Given the description of an element on the screen output the (x, y) to click on. 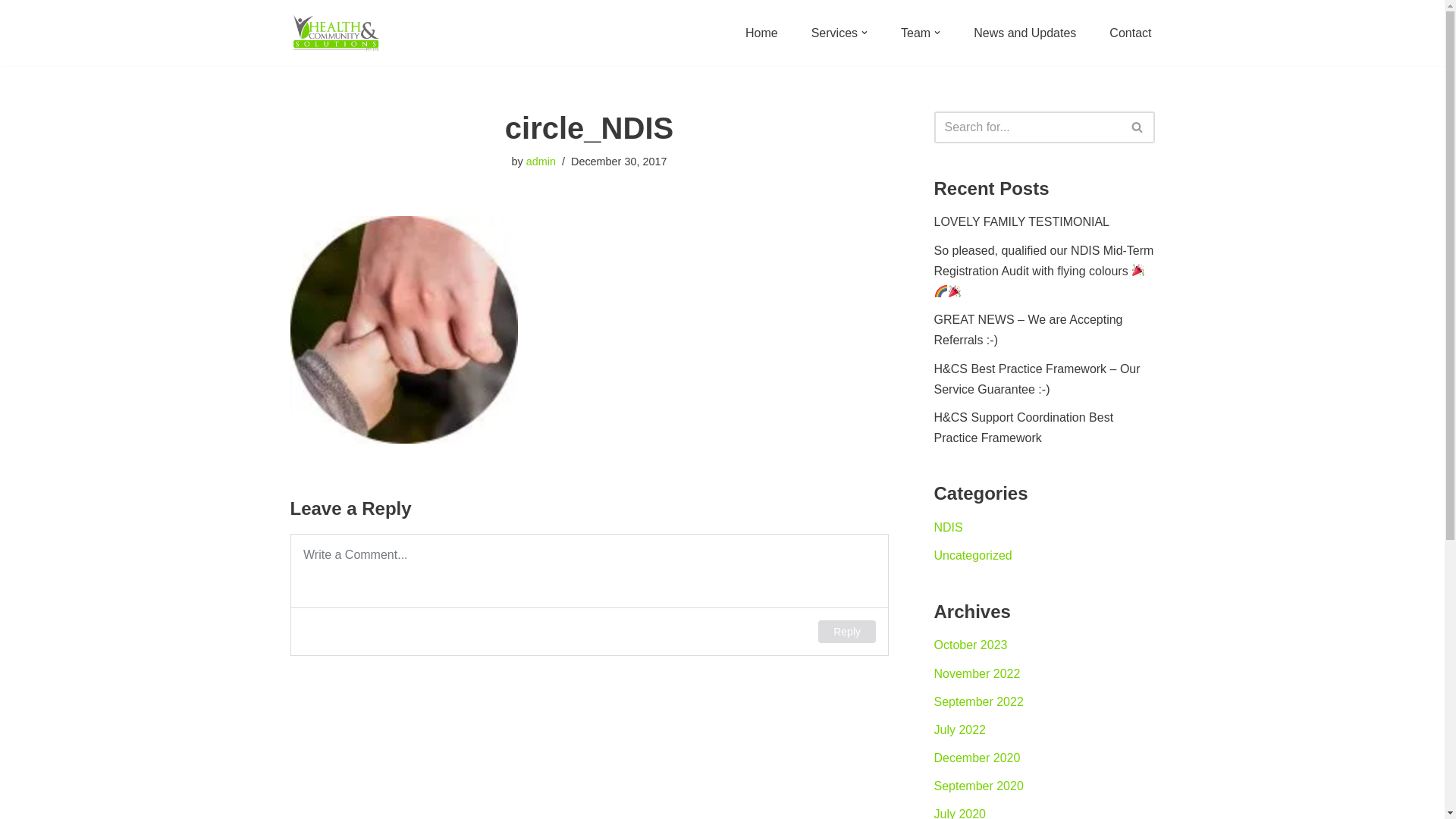
Skip to content Element type: text (11, 31)
December 2020 Element type: text (977, 757)
Contact Element type: text (1130, 32)
Home Element type: text (761, 32)
Team Element type: text (915, 32)
admin Element type: text (540, 161)
H&CS Support Coordination Best Practice Framework Element type: text (1023, 427)
September 2020 Element type: text (978, 785)
October 2023 Element type: text (970, 644)
LOVELY FAMILY TESTIMONIAL Element type: text (1022, 221)
Services Element type: text (834, 32)
July 2022 Element type: text (960, 729)
November 2022 Element type: text (977, 673)
News and Updates Element type: text (1024, 32)
Uncategorized Element type: text (973, 555)
Comment Form Element type: hover (588, 594)
September 2022 Element type: text (978, 701)
NDIS Element type: text (948, 526)
